Given the description of an element on the screen output the (x, y) to click on. 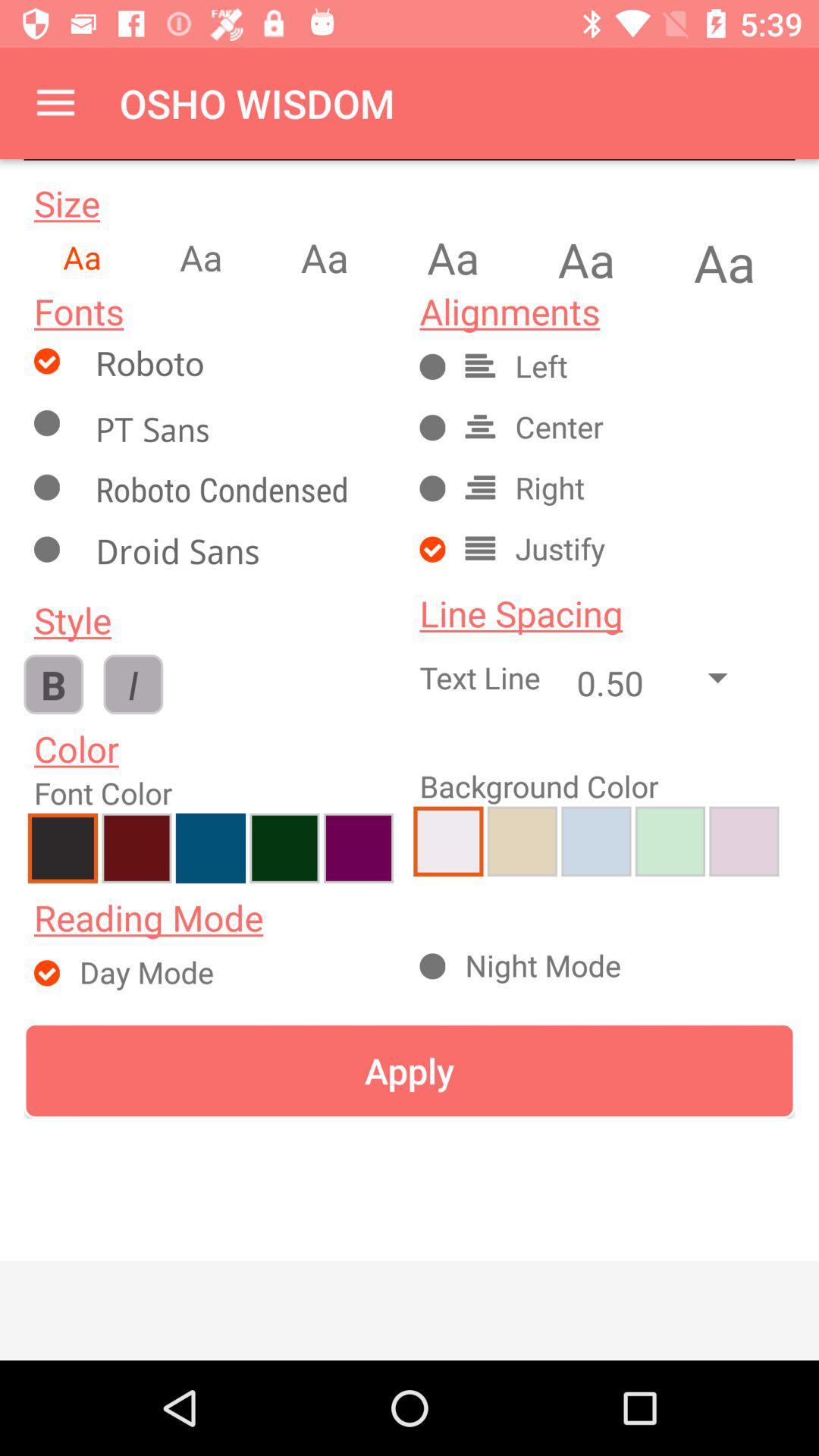
change font to roboto condensed (239, 492)
